Given the description of an element on the screen output the (x, y) to click on. 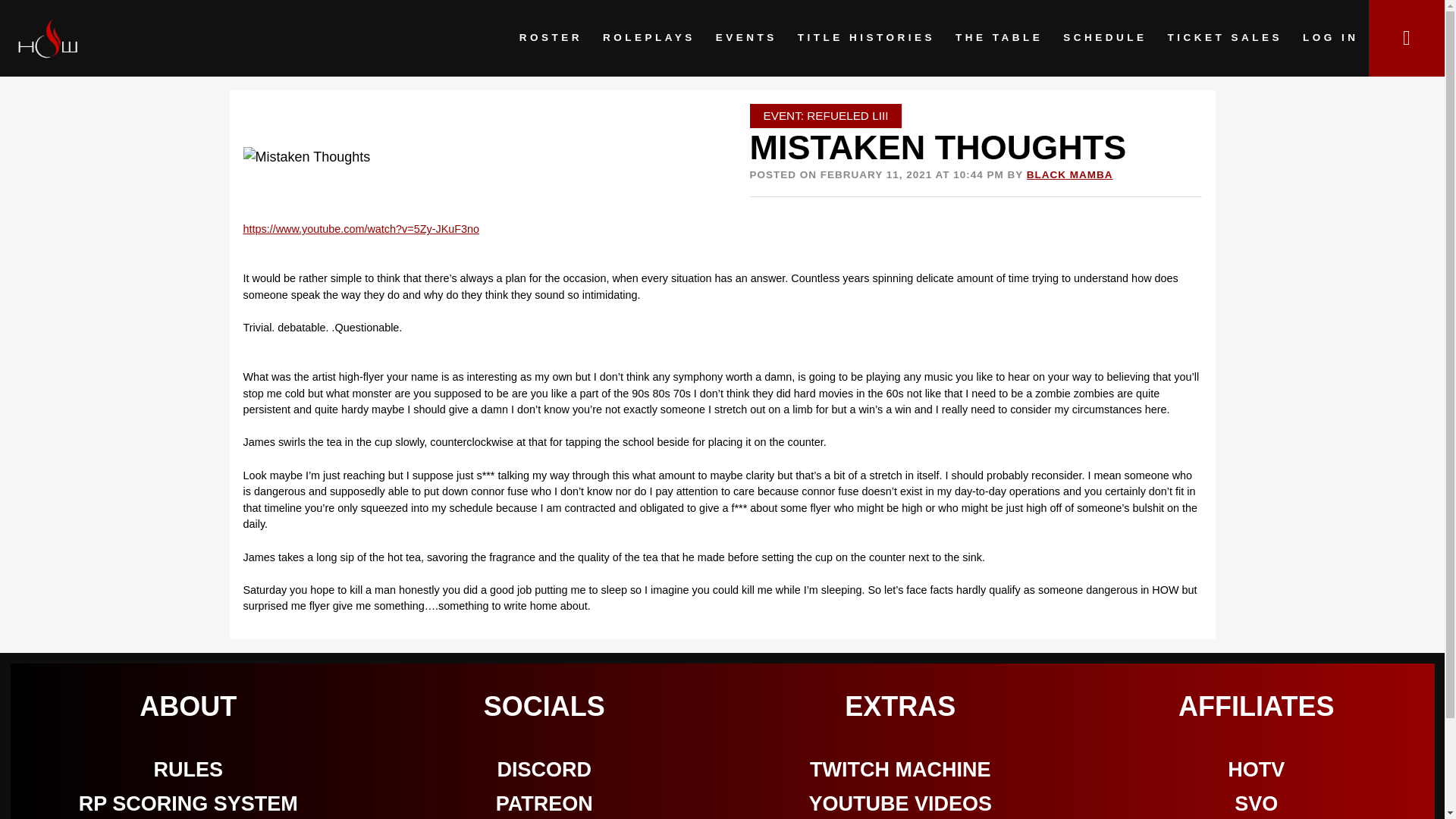
EVENTS (745, 38)
THE TABLE (998, 38)
SCHEDULE (1104, 38)
LOG IN (1330, 38)
ROLEPLAYS (648, 38)
TITLE HISTORIES (865, 38)
ROSTER (550, 38)
TICKET SALES (1224, 38)
